Given the description of an element on the screen output the (x, y) to click on. 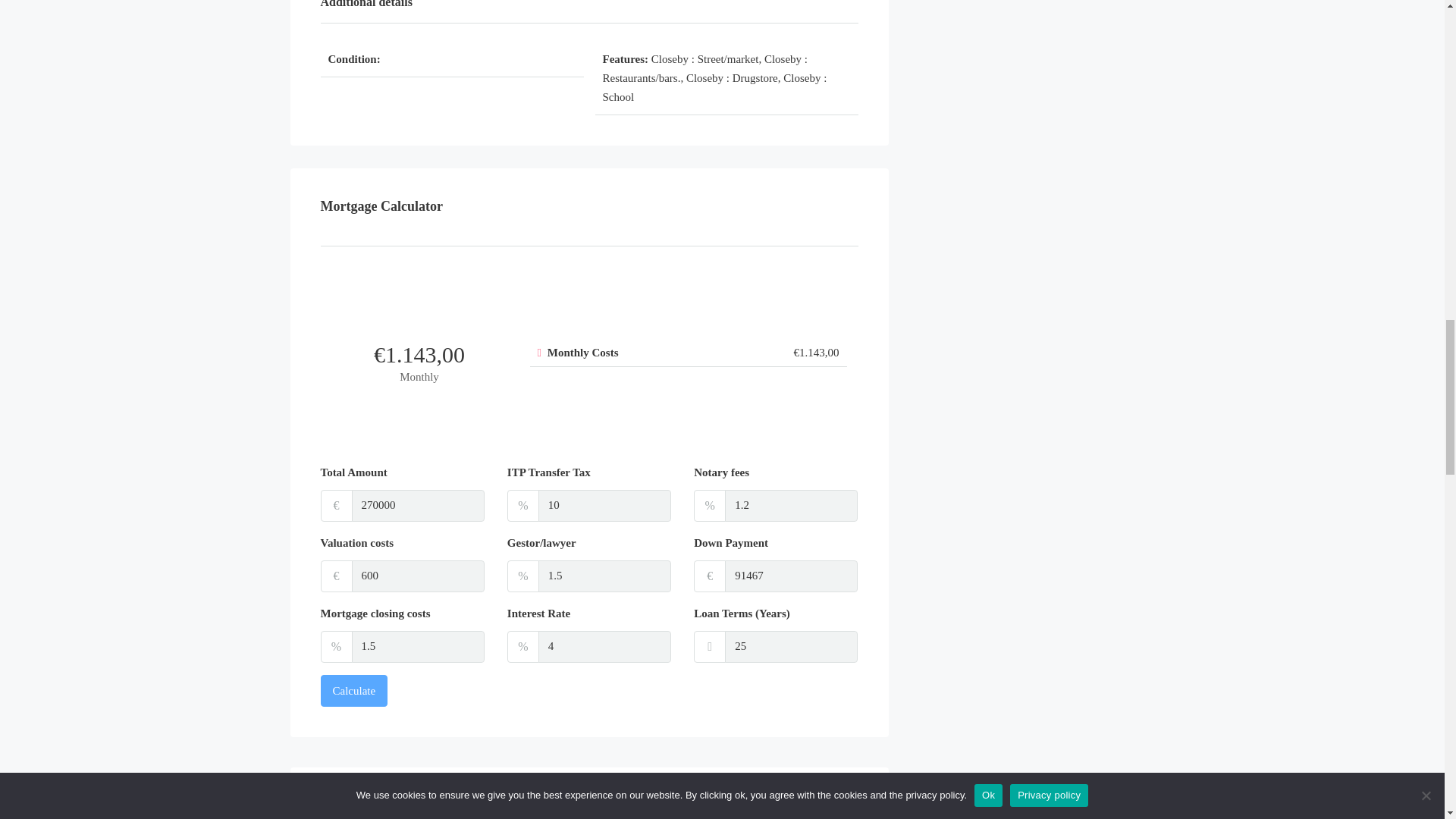
91467 (791, 576)
270000 (418, 505)
25 (791, 646)
1.5 (604, 576)
600 (418, 576)
1.2 (791, 505)
4 (604, 646)
10 (604, 505)
1.5 (418, 646)
